Given the description of an element on the screen output the (x, y) to click on. 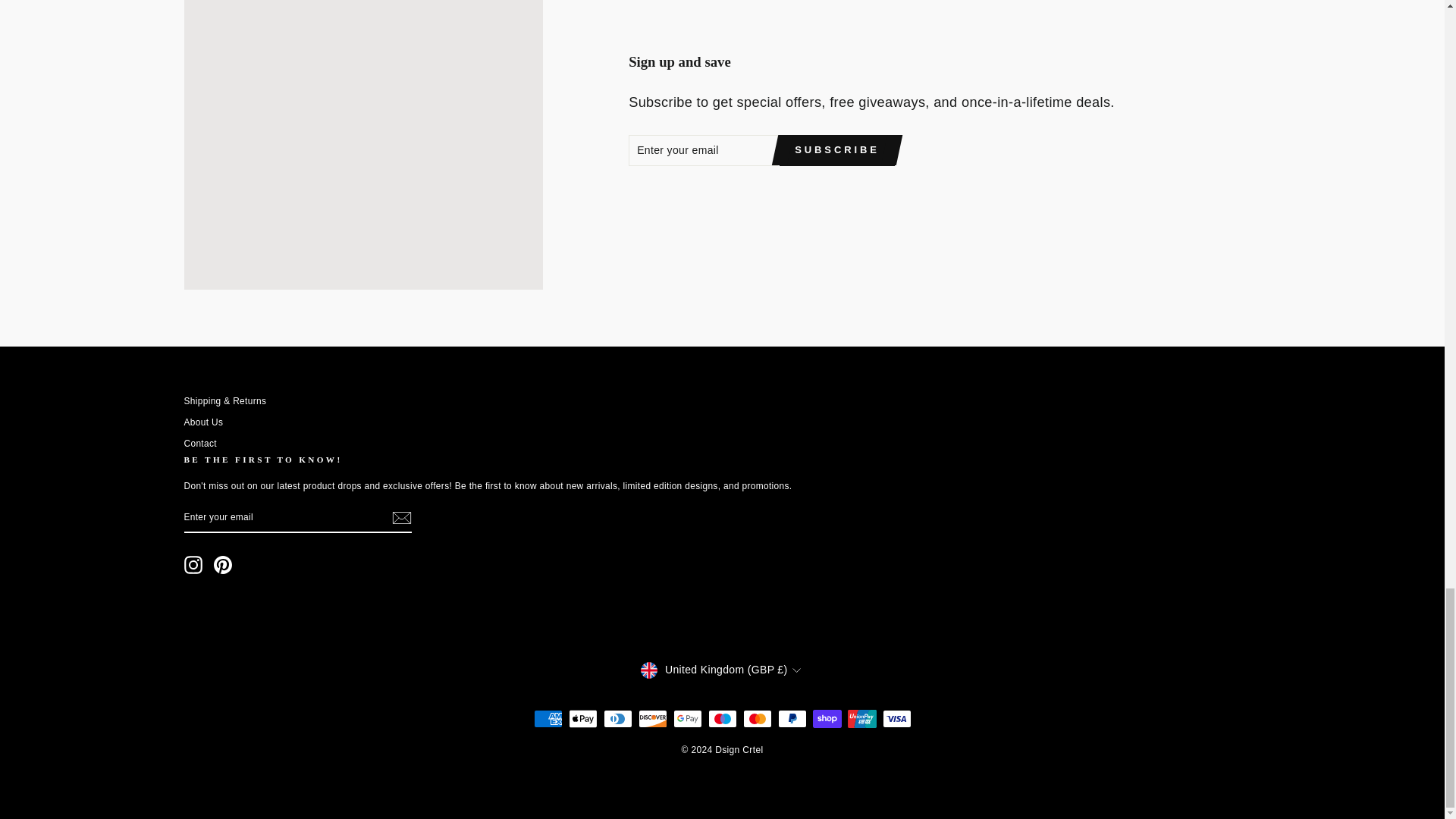
instagram (192, 565)
Mastercard (756, 719)
Dsign Crtel on Instagram (192, 565)
Google Pay (686, 719)
Discover (652, 719)
Maestro (721, 719)
icon-email (400, 517)
Apple Pay (582, 719)
Dsign Crtel on Pinterest (222, 565)
Diners Club (617, 719)
